Given the description of an element on the screen output the (x, y) to click on. 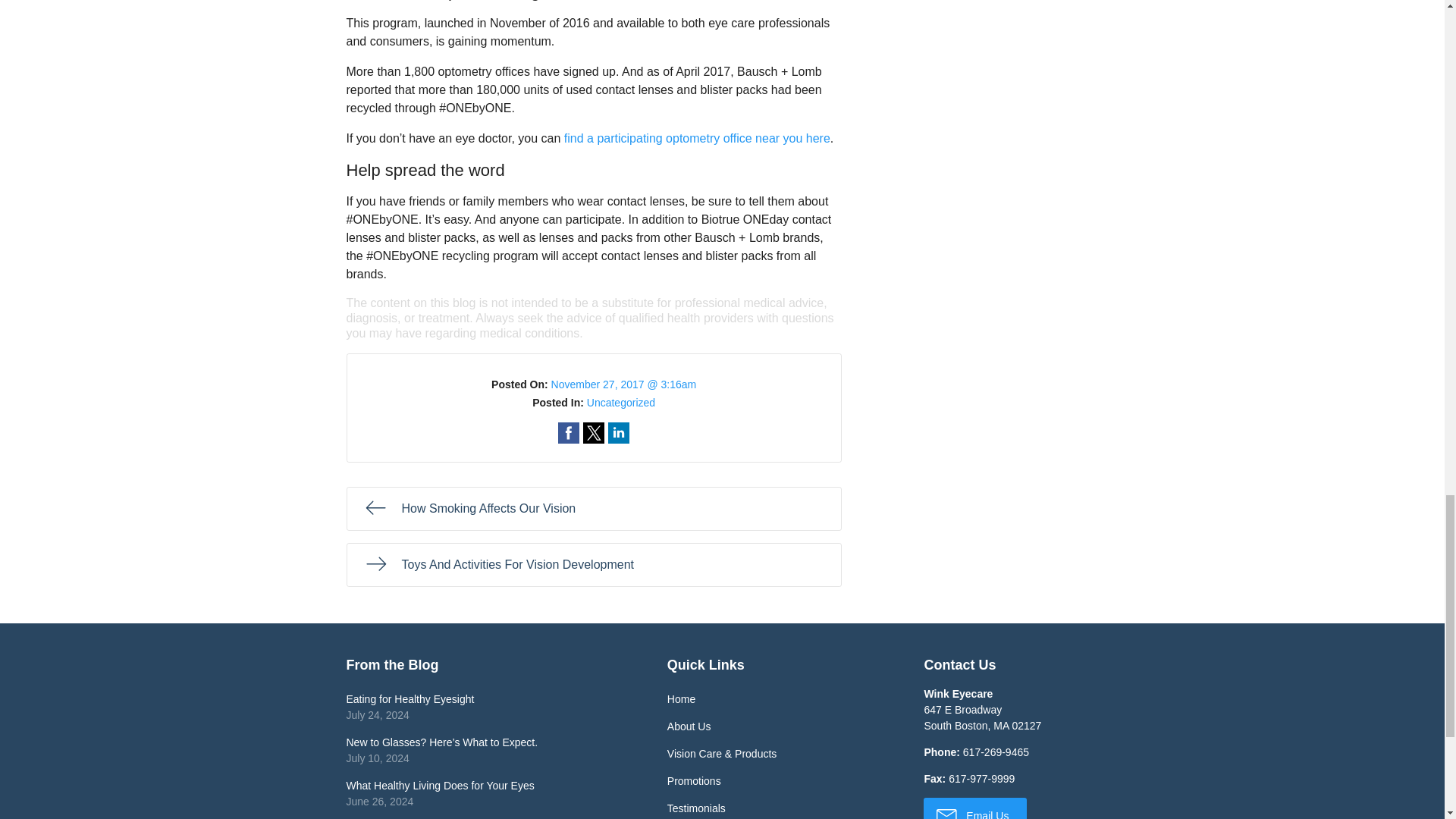
Share on Facebook (568, 432)
Open this address in Google Maps (982, 717)
How Smoking Affects Our Vision (593, 508)
Share on LinkedIn (618, 432)
Contact practice (995, 752)
Share on LinkedIn (618, 432)
Share on Twitter (593, 432)
Share on Facebook (568, 432)
find a participating optometry office near you here (696, 137)
Share on Twitter (593, 432)
Toys And Activities For Vision Development (593, 564)
Uncategorized (620, 402)
